Given the description of an element on the screen output the (x, y) to click on. 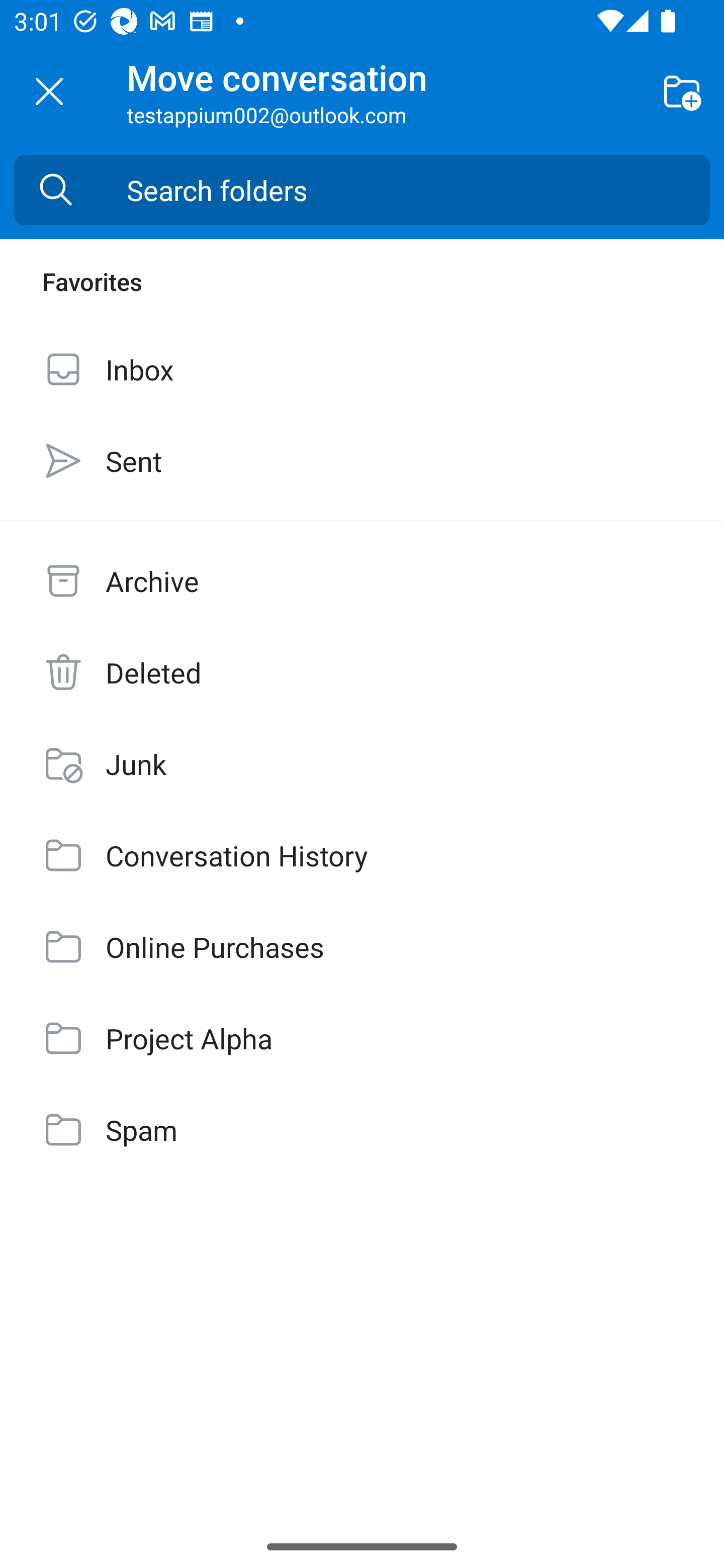
Move conversation, Cancel (49, 91)
Create new folder (681, 90)
Search folders (418, 190)
Inbox (362, 369)
Sent (362, 460)
Archive (362, 580)
Deleted (362, 672)
Junk (362, 763)
Conversation History (362, 855)
Online Purchases (362, 946)
Project Alpha (362, 1037)
Spam (362, 1129)
